Given the description of an element on the screen output the (x, y) to click on. 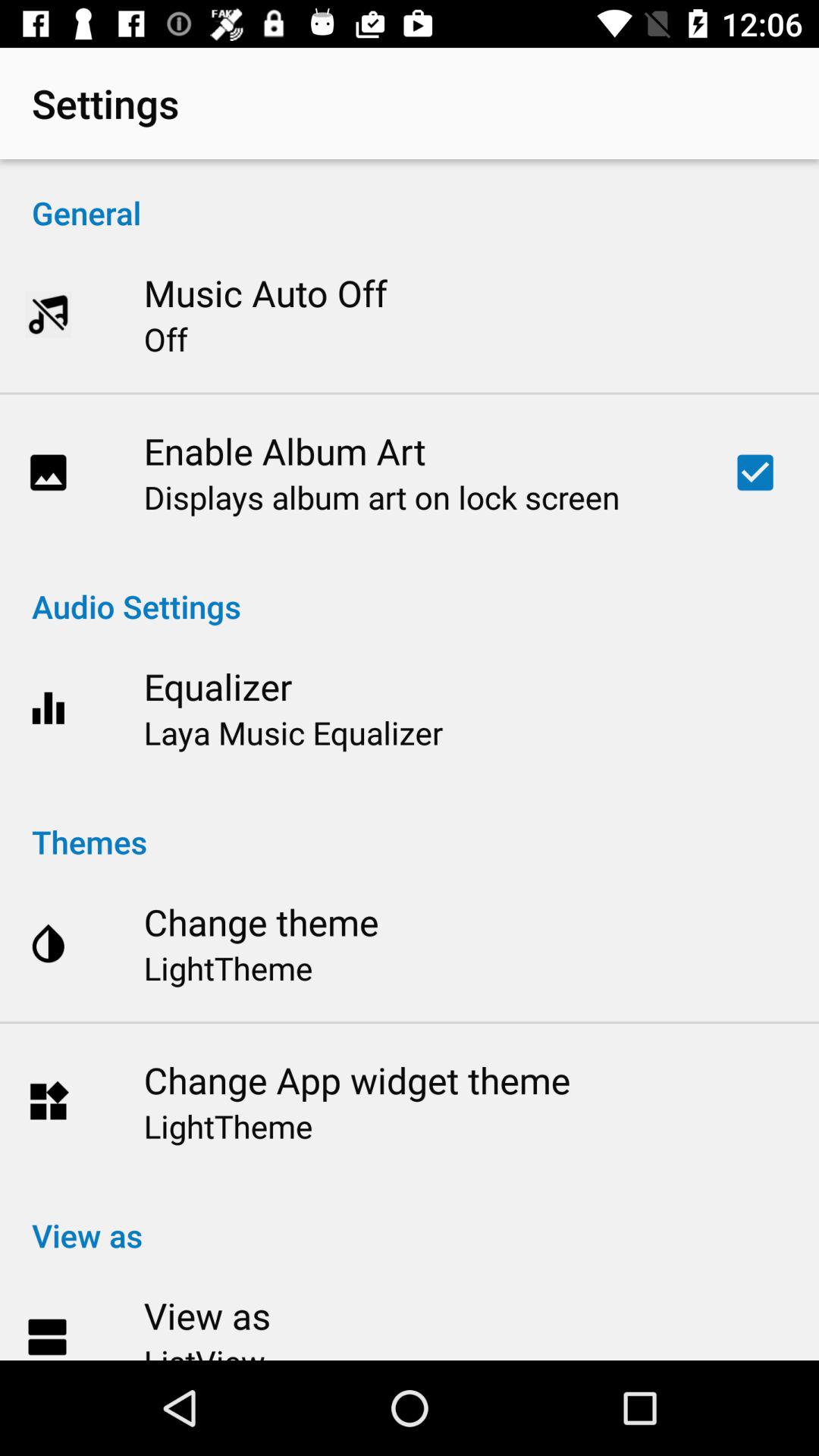
turn off the icon below the general icon (265, 292)
